Given the description of an element on the screen output the (x, y) to click on. 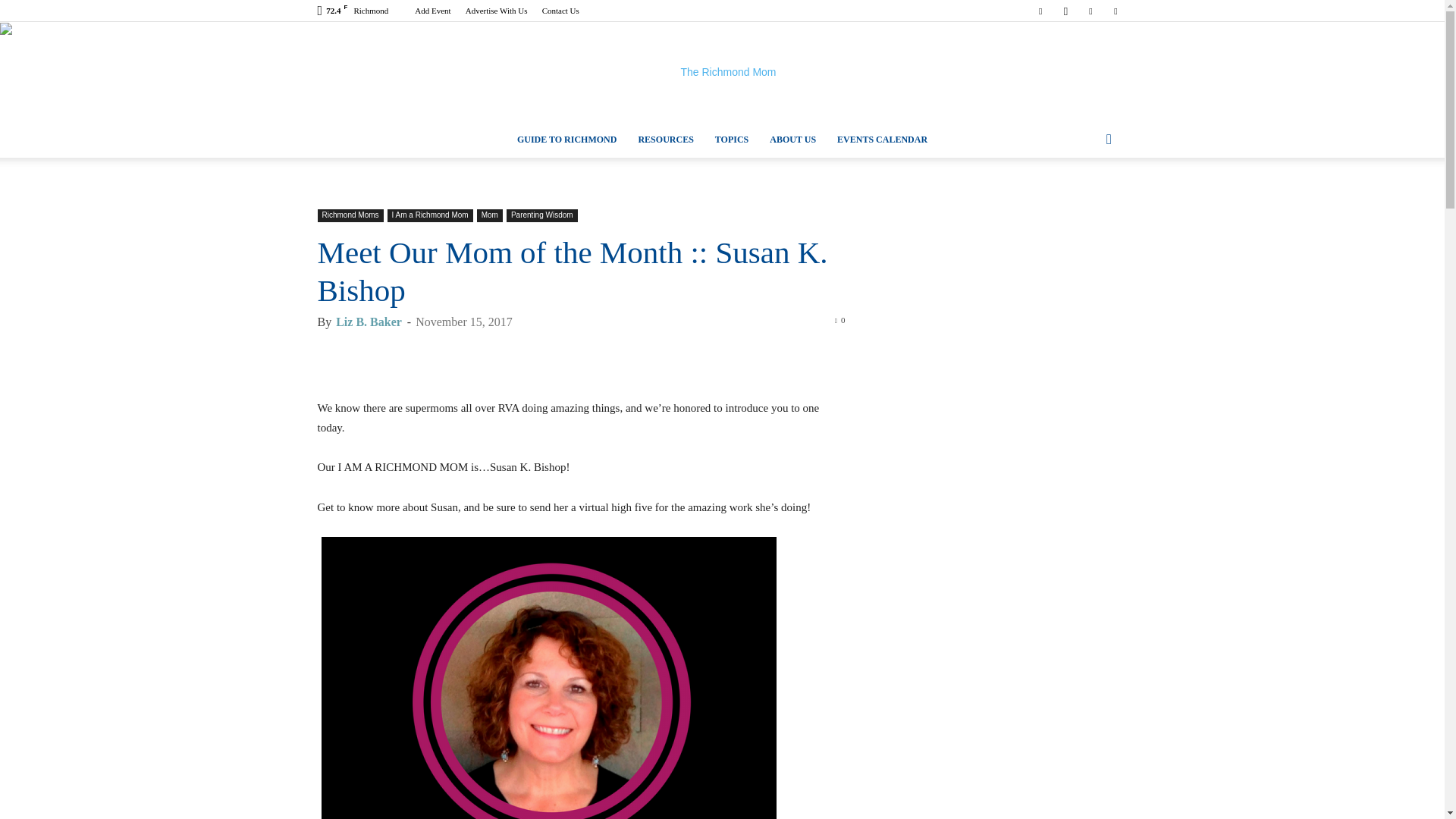
Pinterest (1090, 10)
Instagram (1065, 10)
Contact Us (560, 10)
Add Event (431, 10)
Advertise With Us (496, 10)
Facebook (1040, 10)
Twitter (1114, 10)
